Given the description of an element on the screen output the (x, y) to click on. 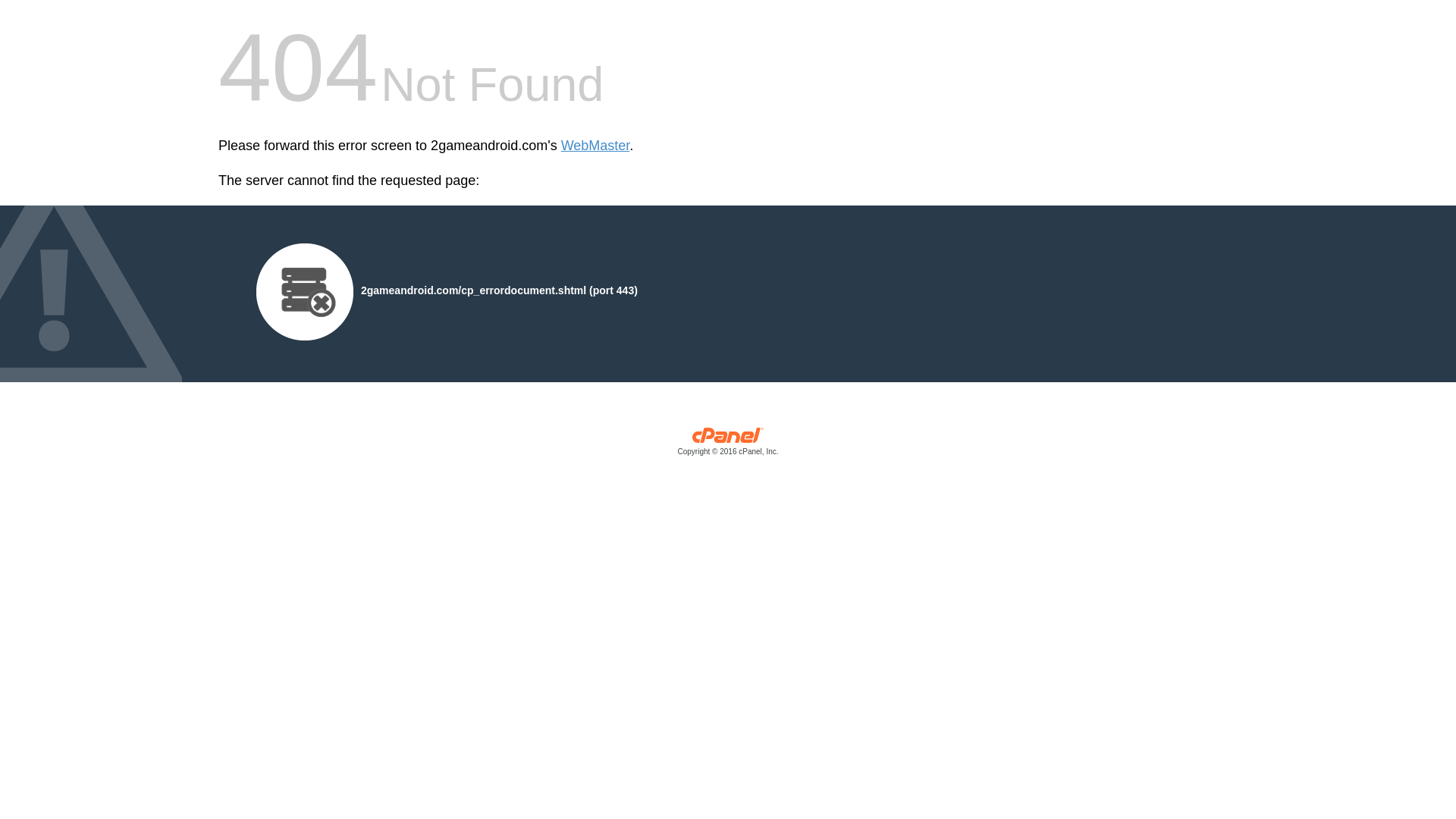
WebMaster Element type: text (595, 145)
